Given the description of an element on the screen output the (x, y) to click on. 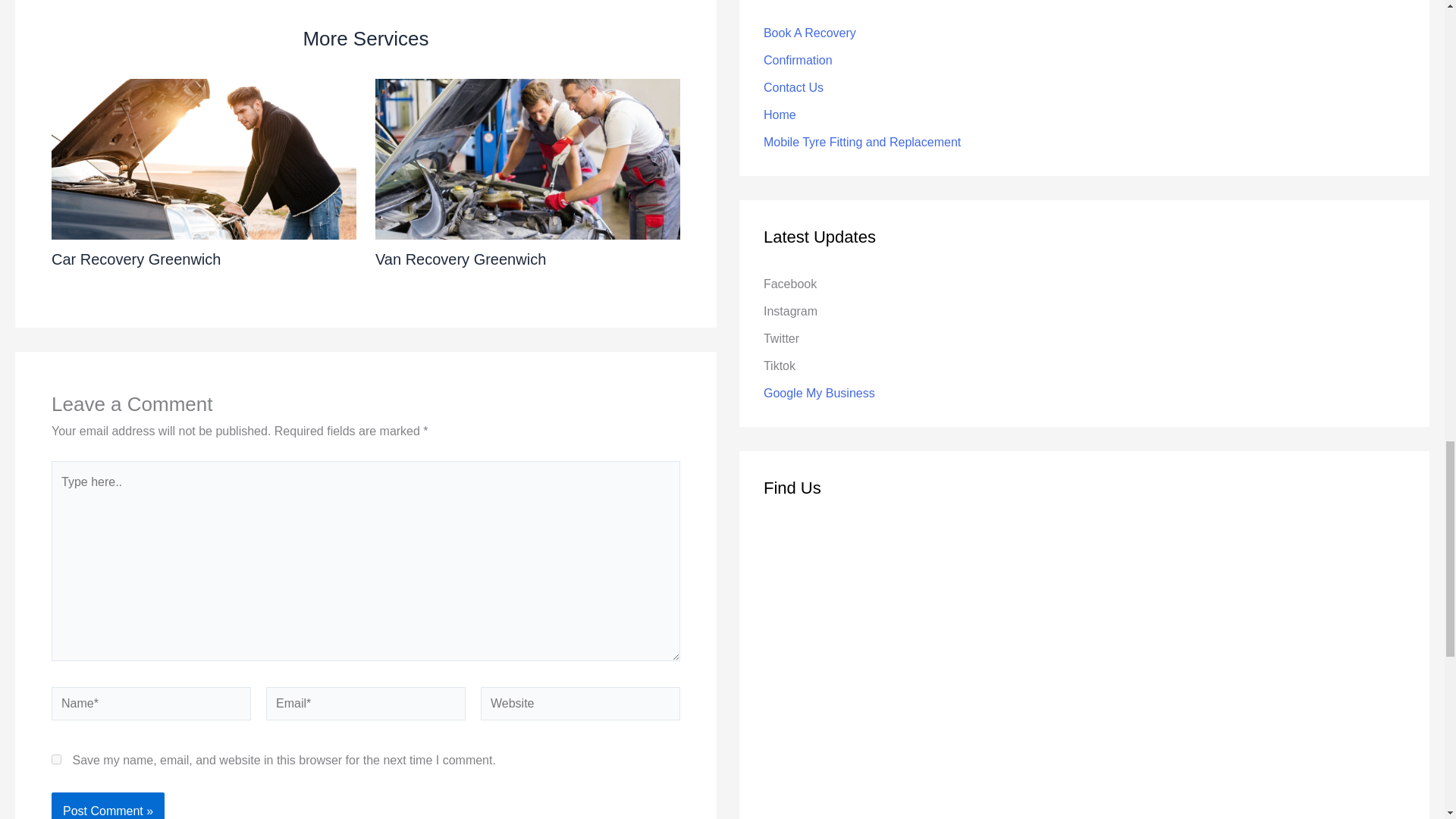
Van Recovery Greenwich (460, 258)
Car Recovery Greenwich (135, 258)
yes (55, 759)
